Given the description of an element on the screen output the (x, y) to click on. 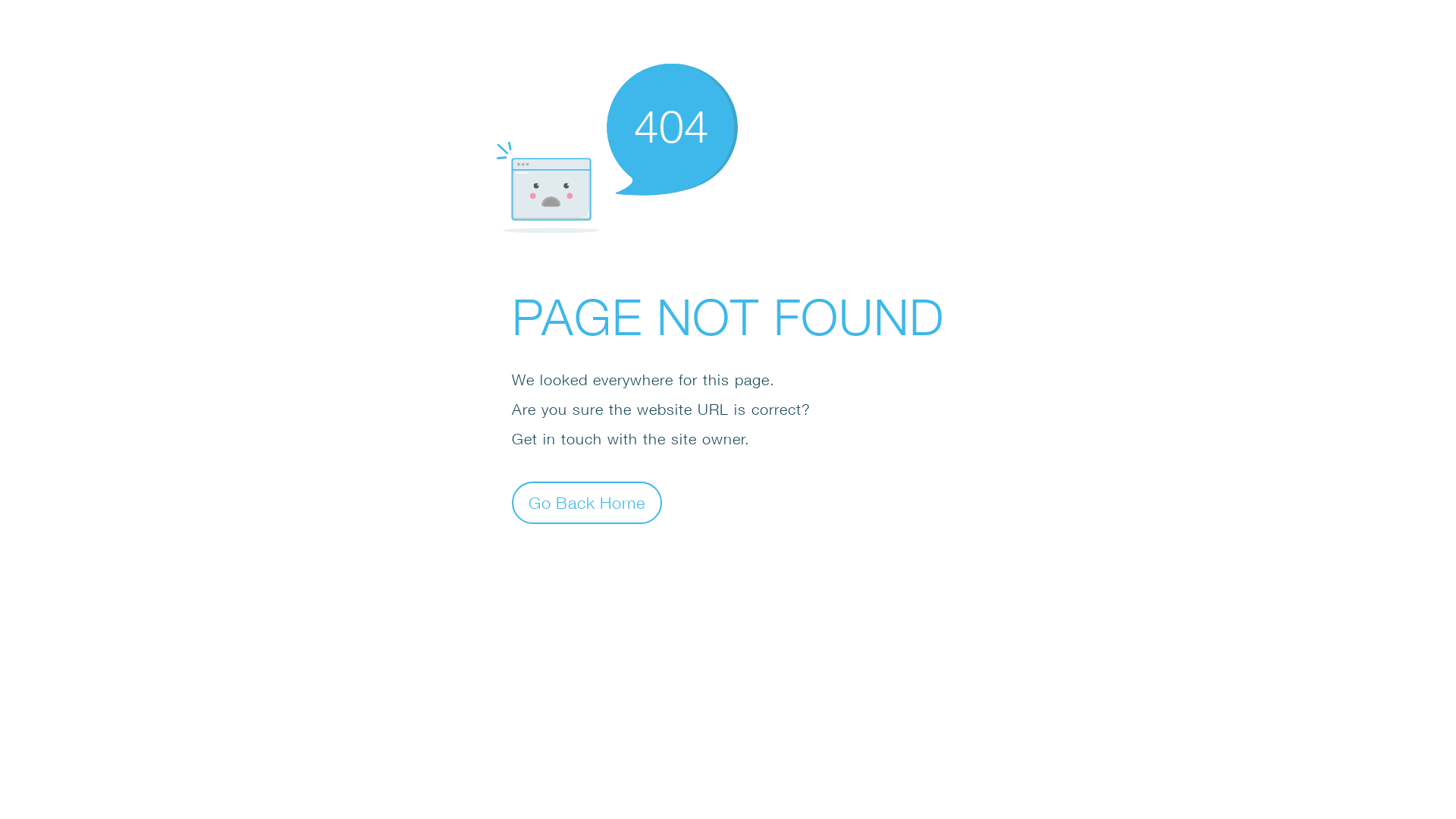
Go Back Home Element type: text (586, 502)
